Given the description of an element on the screen output the (x, y) to click on. 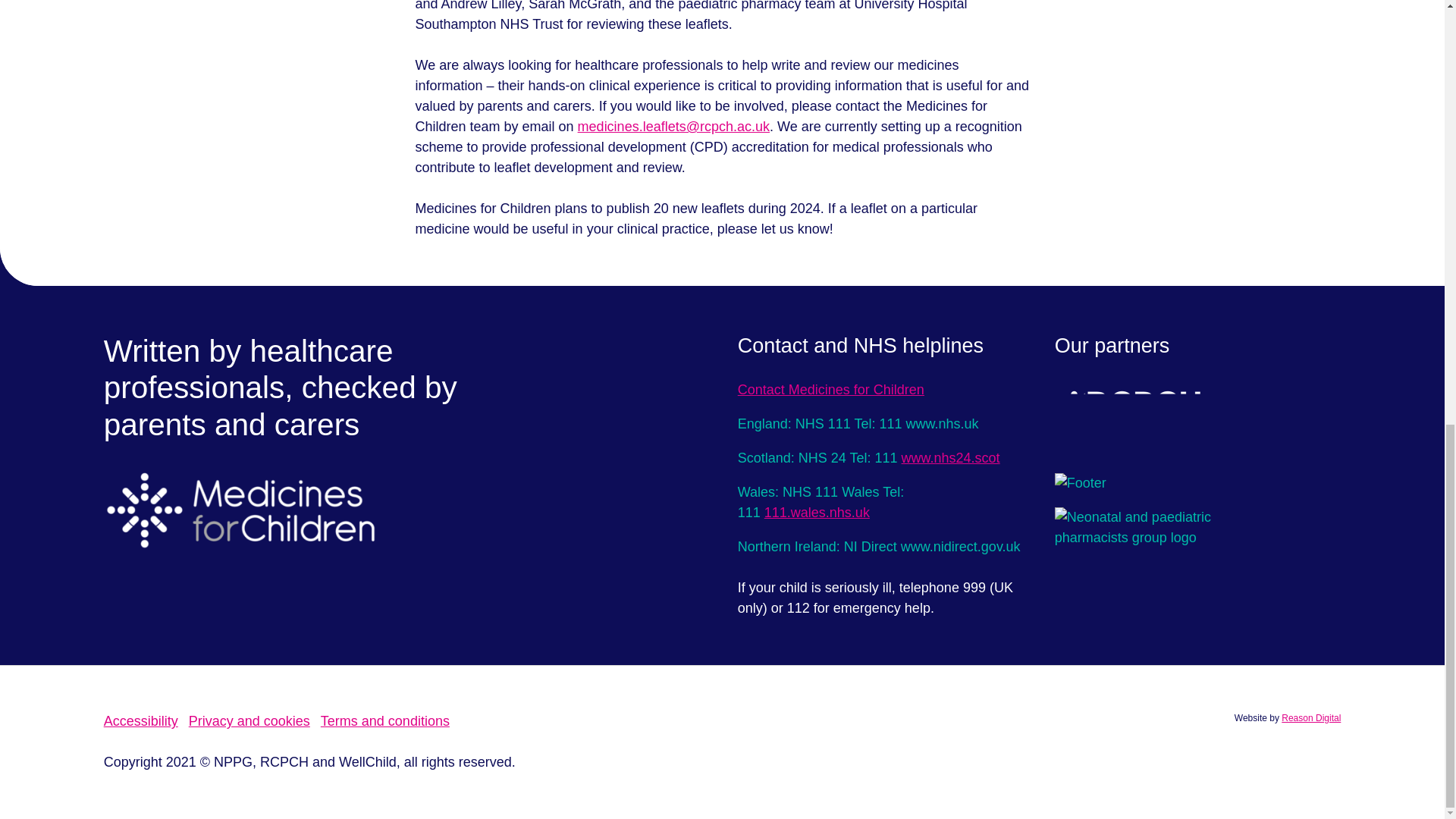
Privacy and cookies (249, 720)
www.nhs24.scot (950, 458)
111.wales.nhs.uk (816, 512)
Terms and conditions (384, 720)
Contact Medicines for Children (831, 389)
Reason Digital (1310, 717)
Accessibility (140, 720)
